Given the description of an element on the screen output the (x, y) to click on. 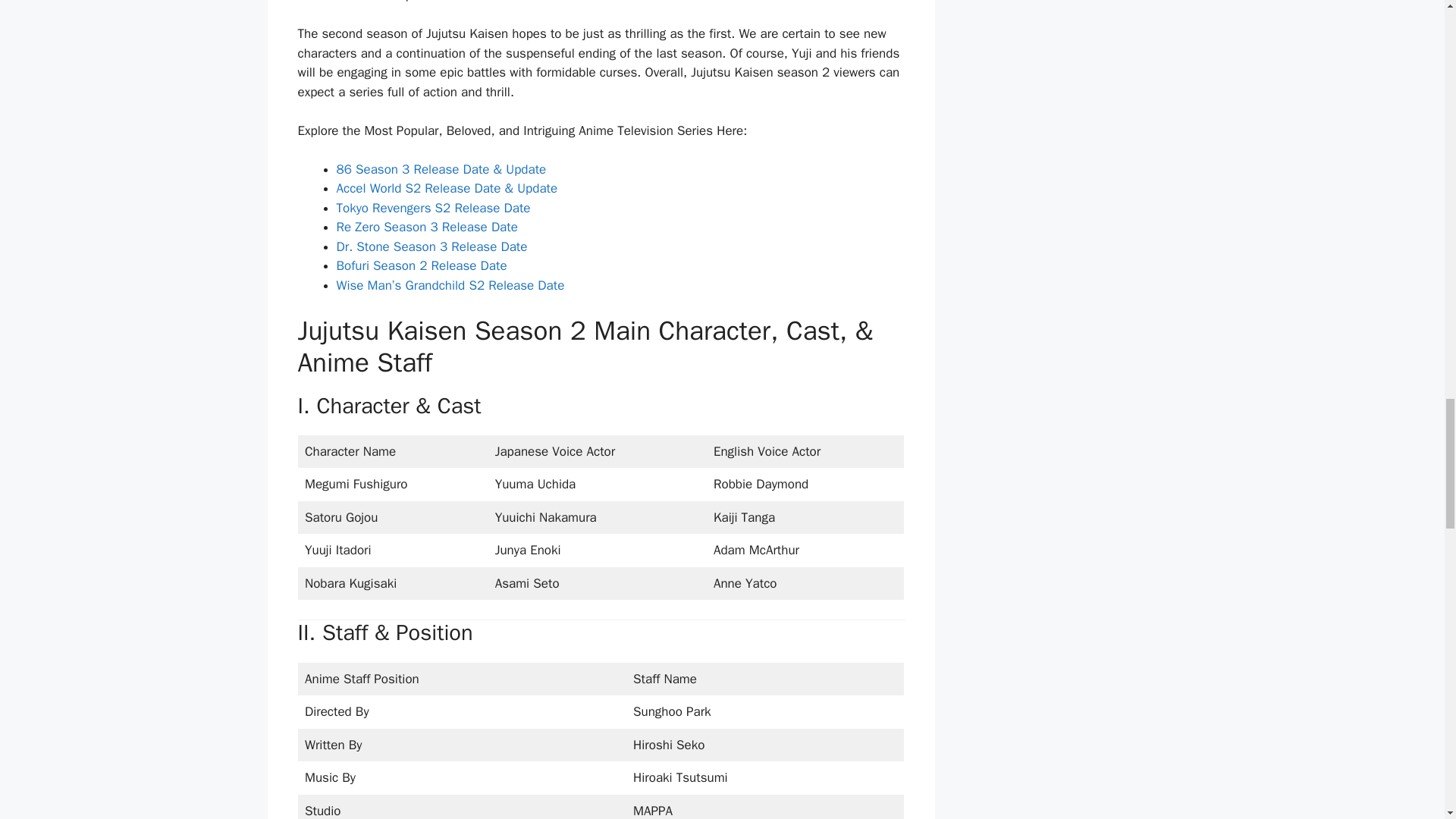
Bofuri Season 2 Release Date (421, 265)
Re Zero Season 3 Release Date (427, 227)
Dr. Stone Season 3 Release Date (431, 246)
Tokyo Revengers S2 Release Date (433, 207)
